Given the description of an element on the screen output the (x, y) to click on. 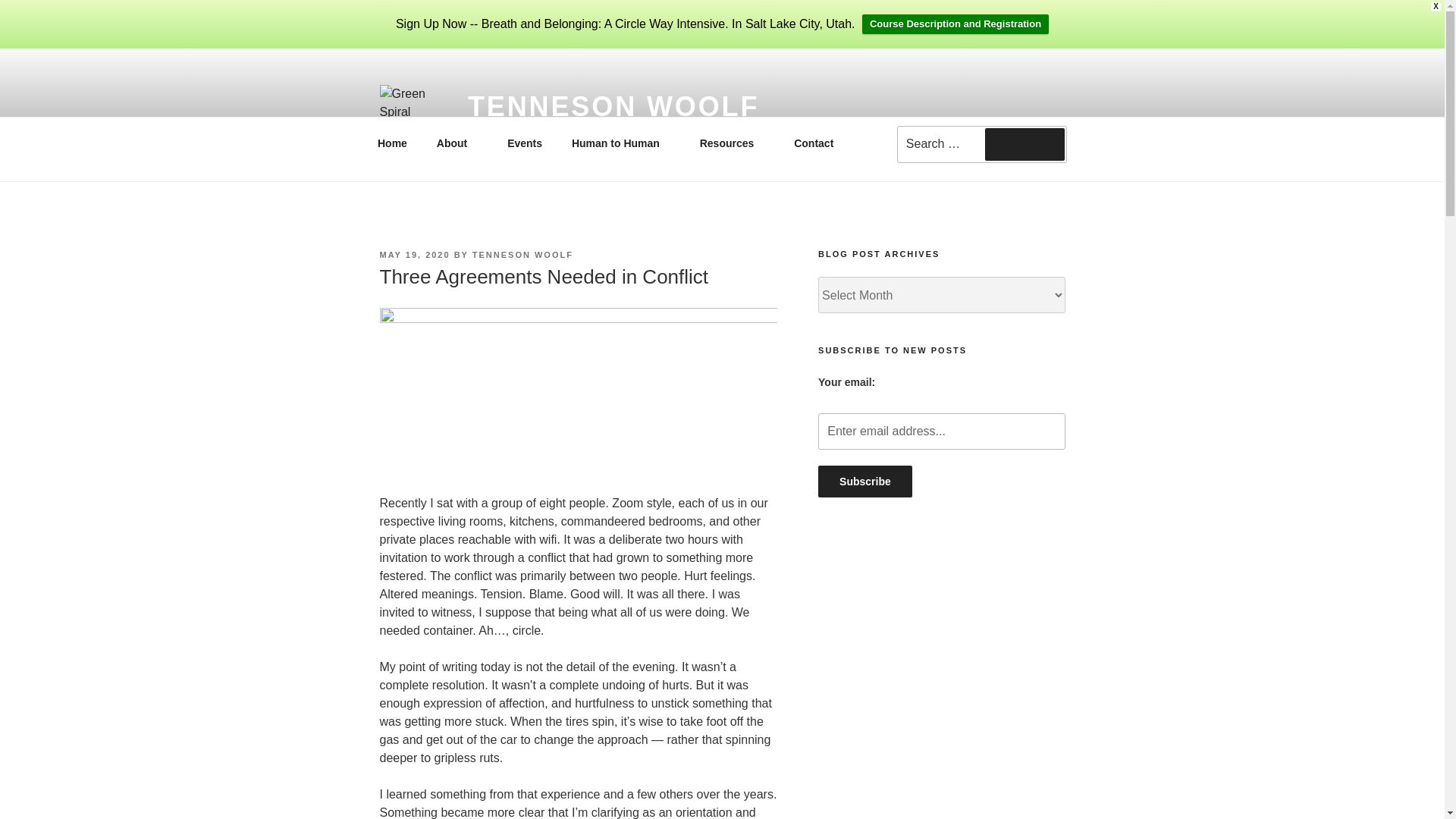
Resources (981, 140)
Enter email address... (731, 143)
Home (941, 431)
Subscribe (392, 143)
Human to Human (865, 481)
Subscribe (619, 143)
MAY 19, 2020 (865, 481)
TENNESON WOOLF (413, 254)
Search (522, 254)
